Given the description of an element on the screen output the (x, y) to click on. 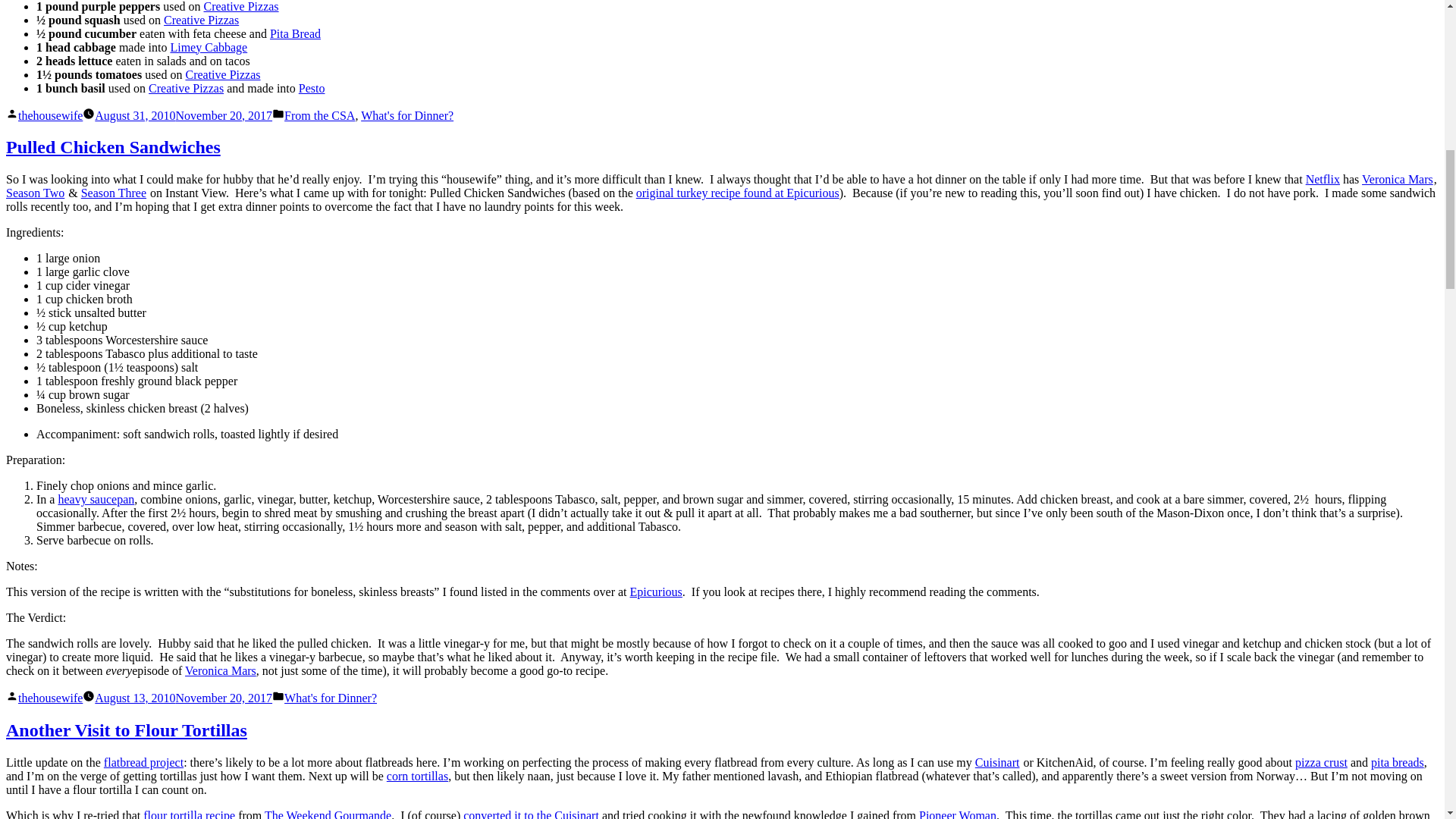
Creative Pizzas (186, 88)
Pesto (311, 88)
Creative Pizzas (200, 19)
Limey Cabbage (208, 47)
Pita Bread (294, 33)
Creative Pizzas (222, 74)
Creative Pizzas (240, 6)
